Given the description of an element on the screen output the (x, y) to click on. 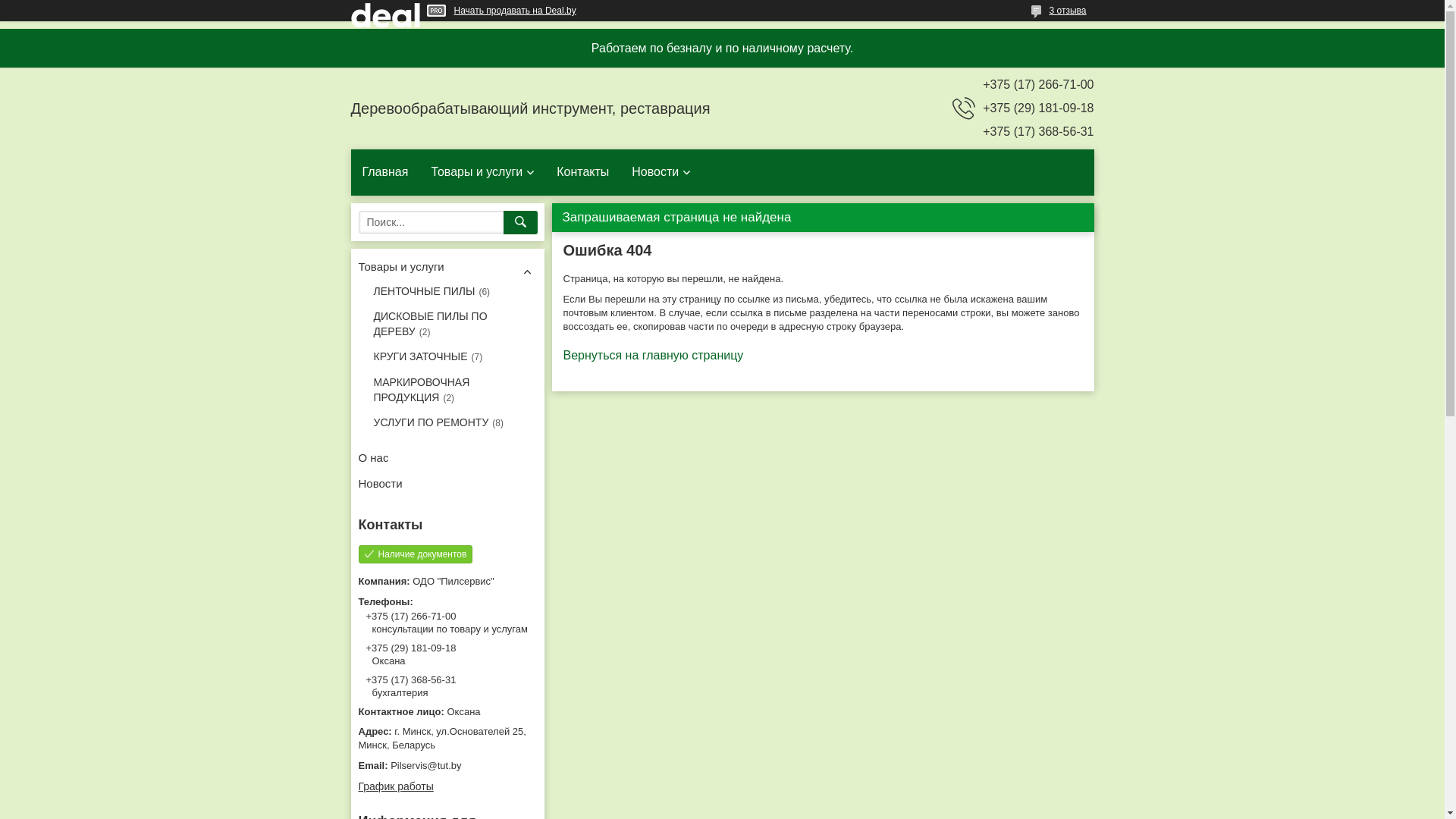
Pilservis@tut.by Element type: text (446, 765)
